Given the description of an element on the screen output the (x, y) to click on. 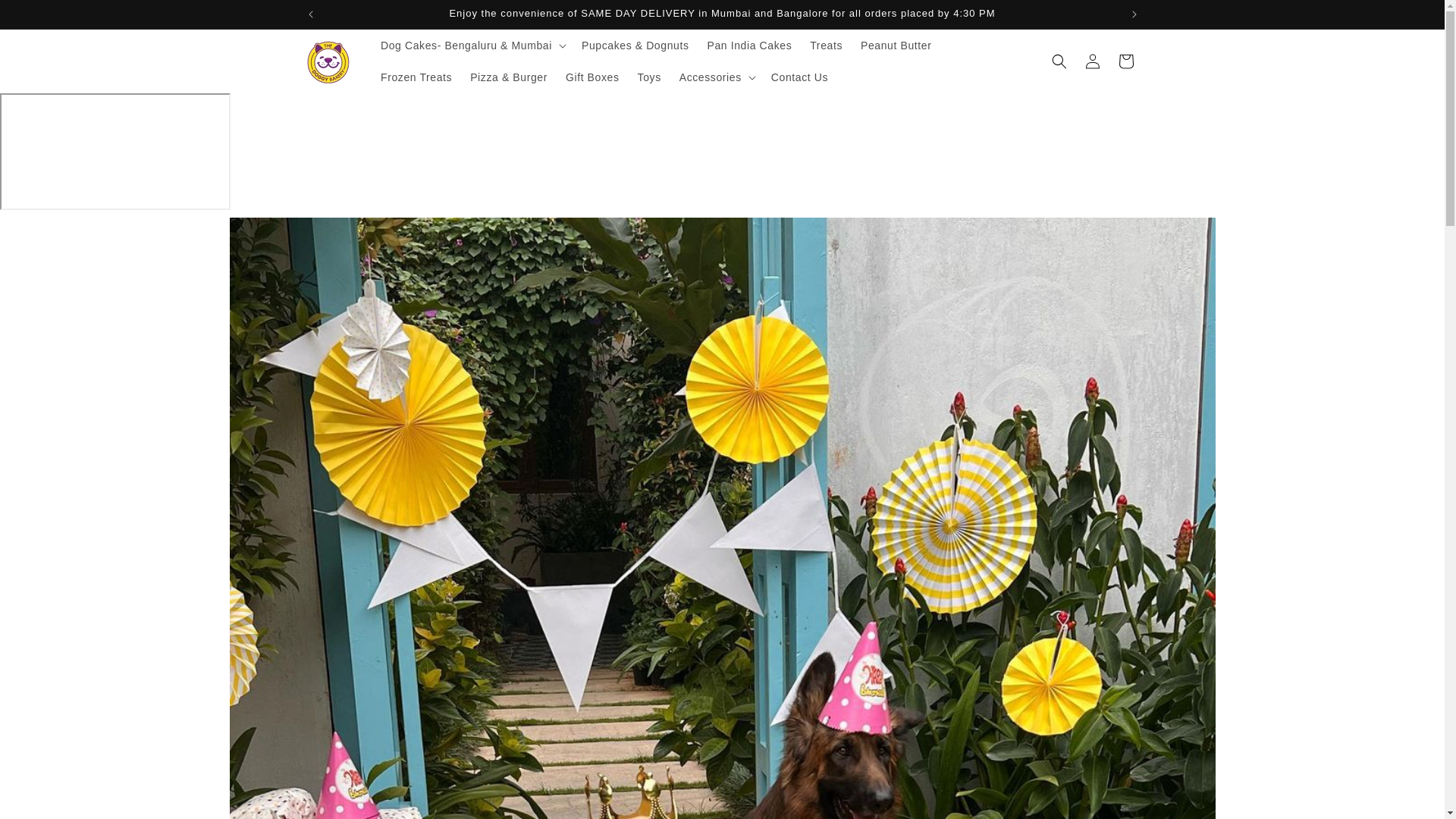
Skip to content (45, 17)
